Given the description of an element on the screen output the (x, y) to click on. 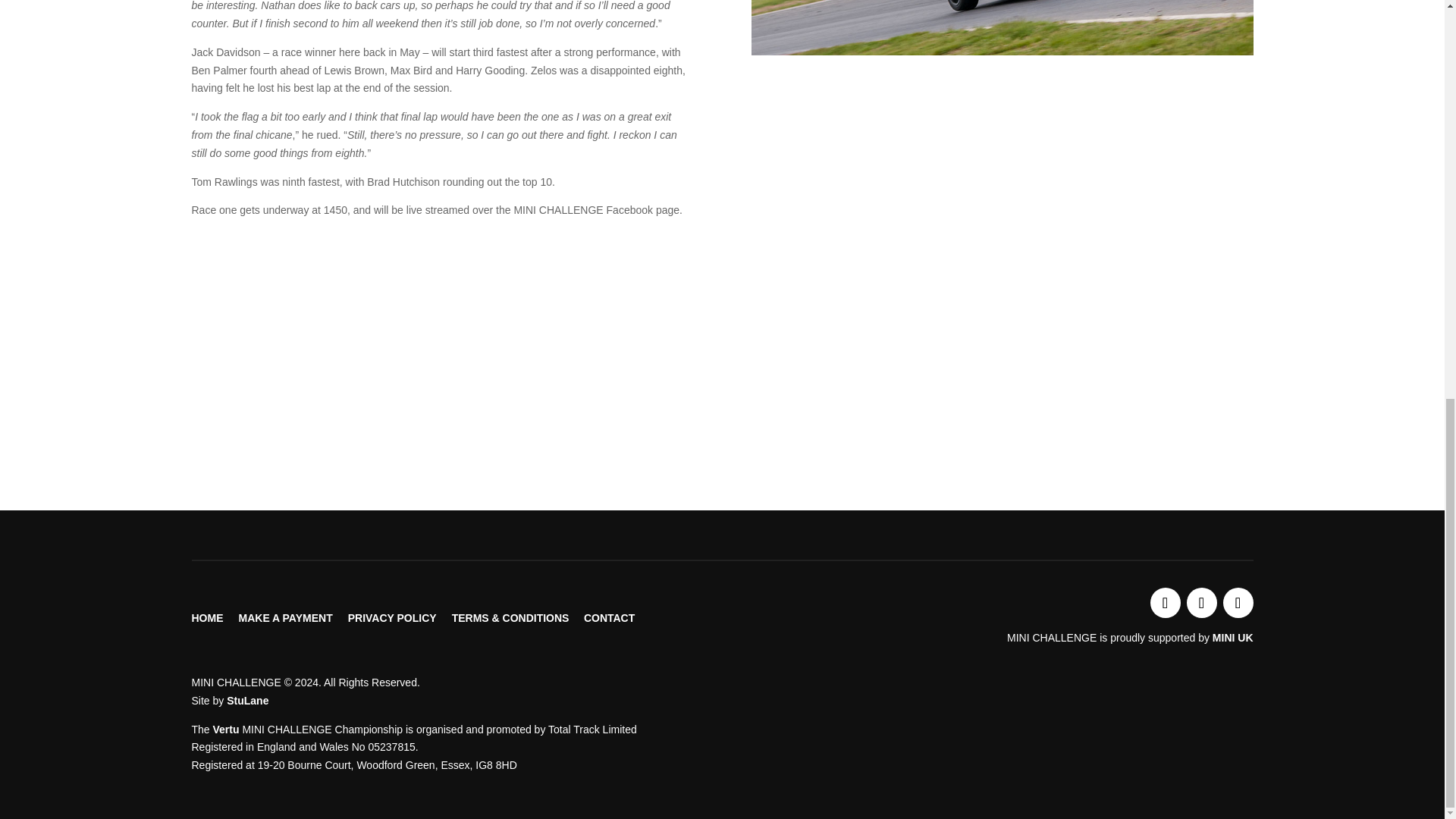
Follow on X (1164, 603)
Motorsport websites (247, 700)
Follow on Instagram (1237, 603)
Follow on Facebook (1200, 603)
